Given the description of an element on the screen output the (x, y) to click on. 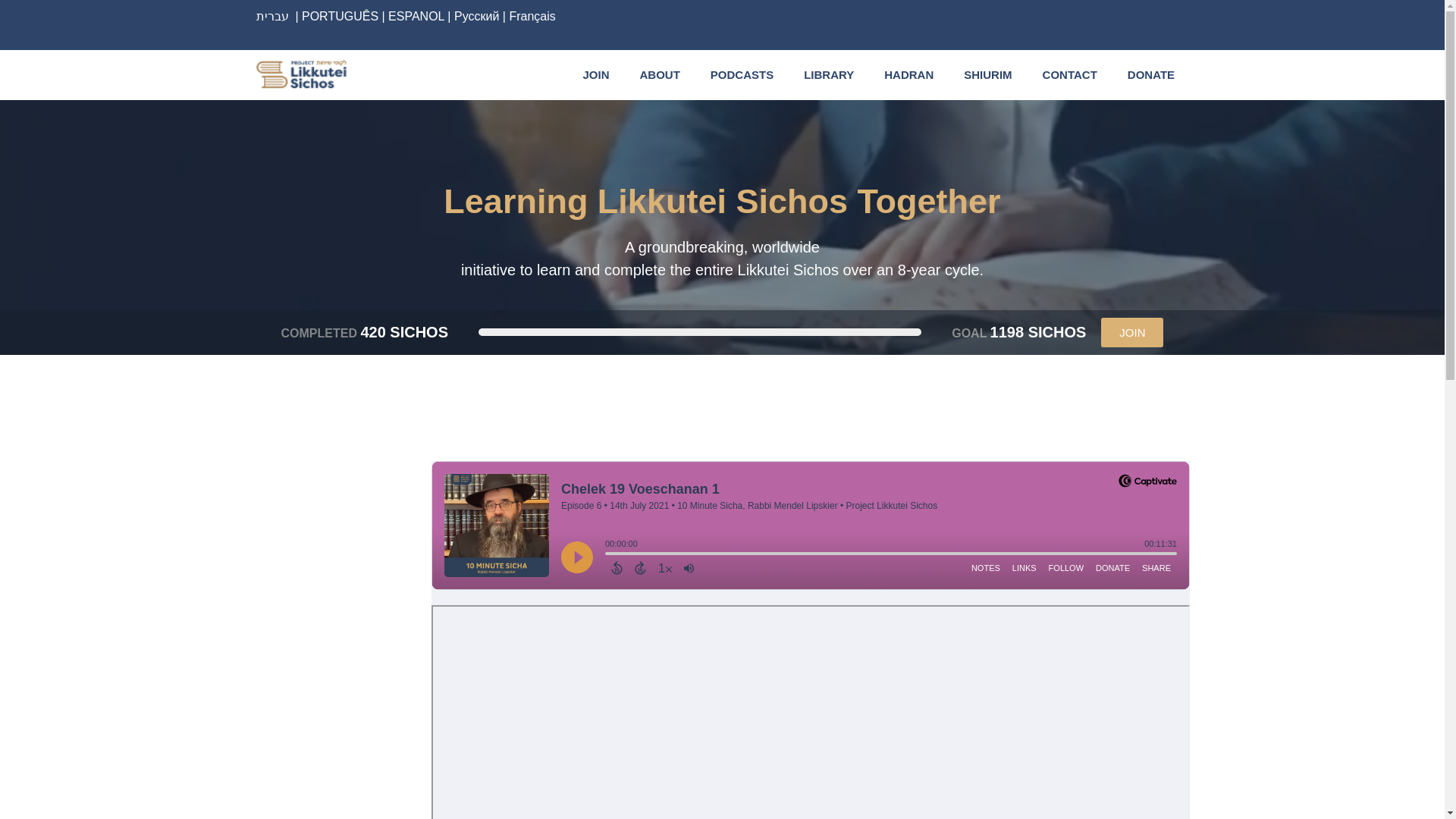
PODCASTS (742, 74)
ESPANOL (416, 15)
JOIN (595, 74)
LIBRARY (829, 74)
HADRAN (909, 74)
ABOUT (659, 74)
